Given the description of an element on the screen output the (x, y) to click on. 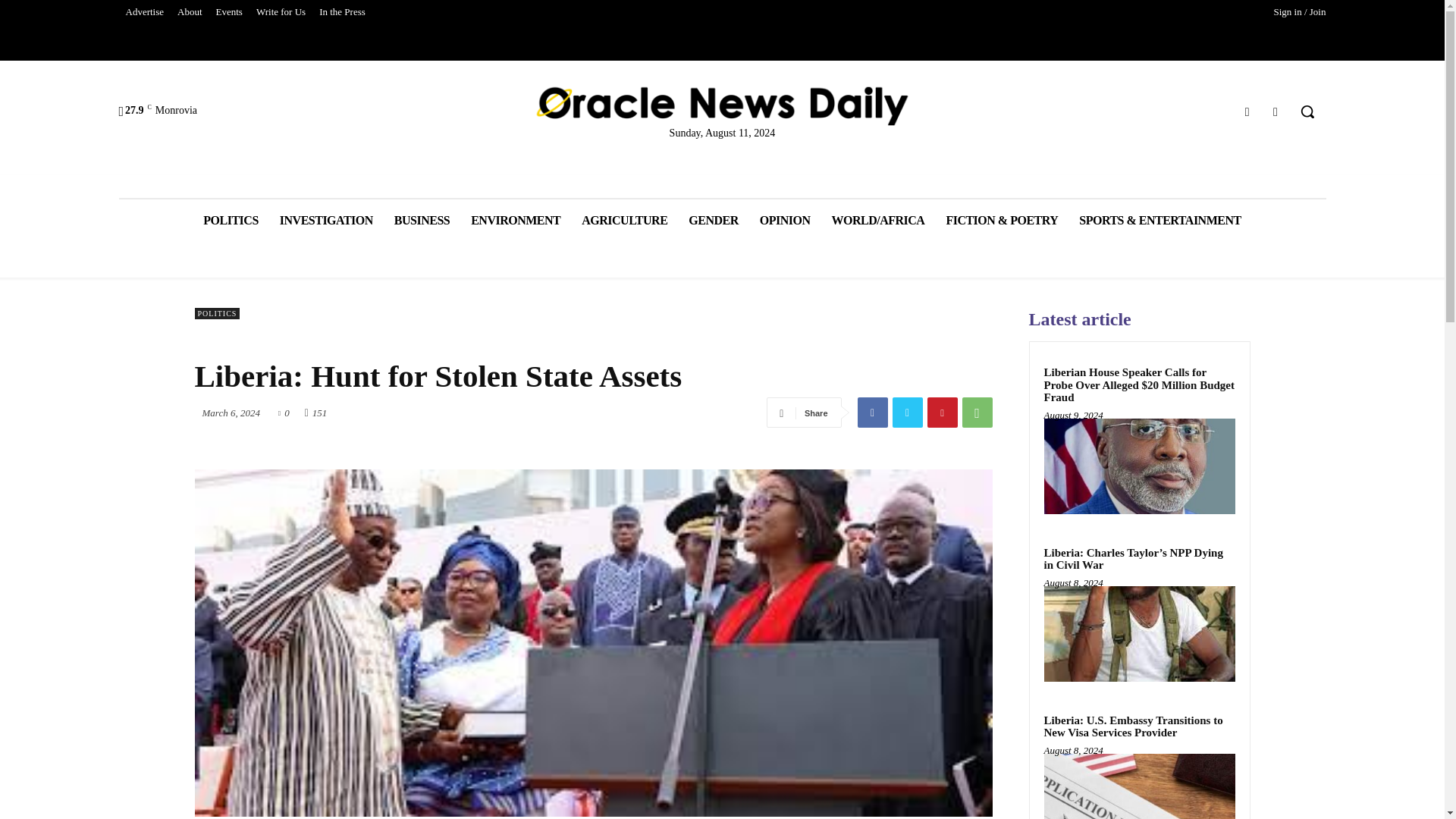
Pinterest (941, 412)
About (189, 12)
INVESTIGATION (326, 219)
WhatsApp (975, 412)
AGRICULTURE (624, 219)
OPINION (785, 219)
GENDER (713, 219)
BUSINESS (422, 219)
In the Press (342, 12)
POLITICS (229, 219)
